Given the description of an element on the screen output the (x, y) to click on. 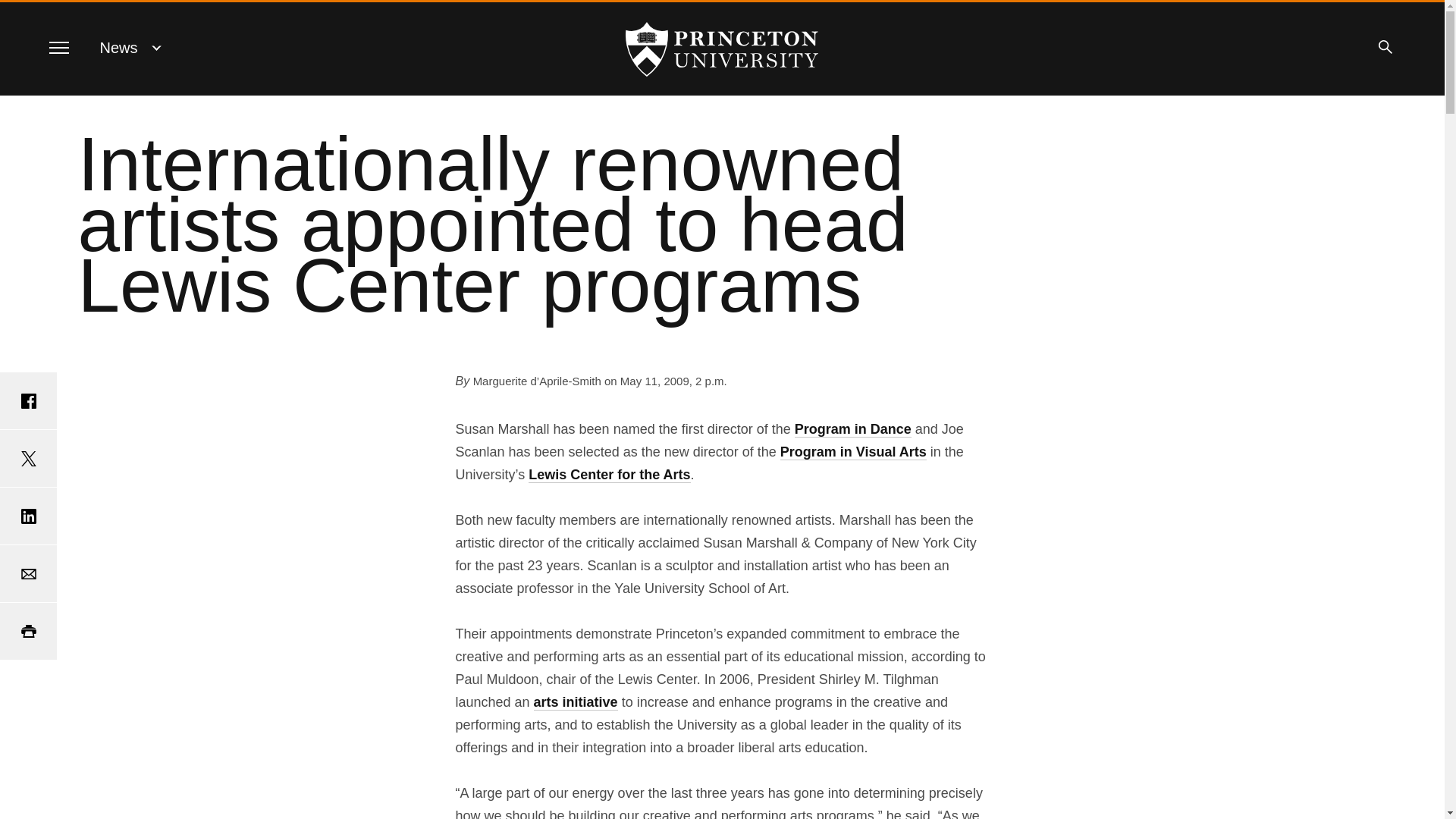
Menu (57, 47)
Lewis Center for the Arts (609, 474)
Program in Dance (852, 429)
Home (722, 49)
Share on Facebook (28, 400)
Princeton University (722, 49)
Email (28, 573)
Search (1384, 47)
Print (28, 631)
SKIP TO MAIN CONTENT (22, 13)
